Given the description of an element on the screen output the (x, y) to click on. 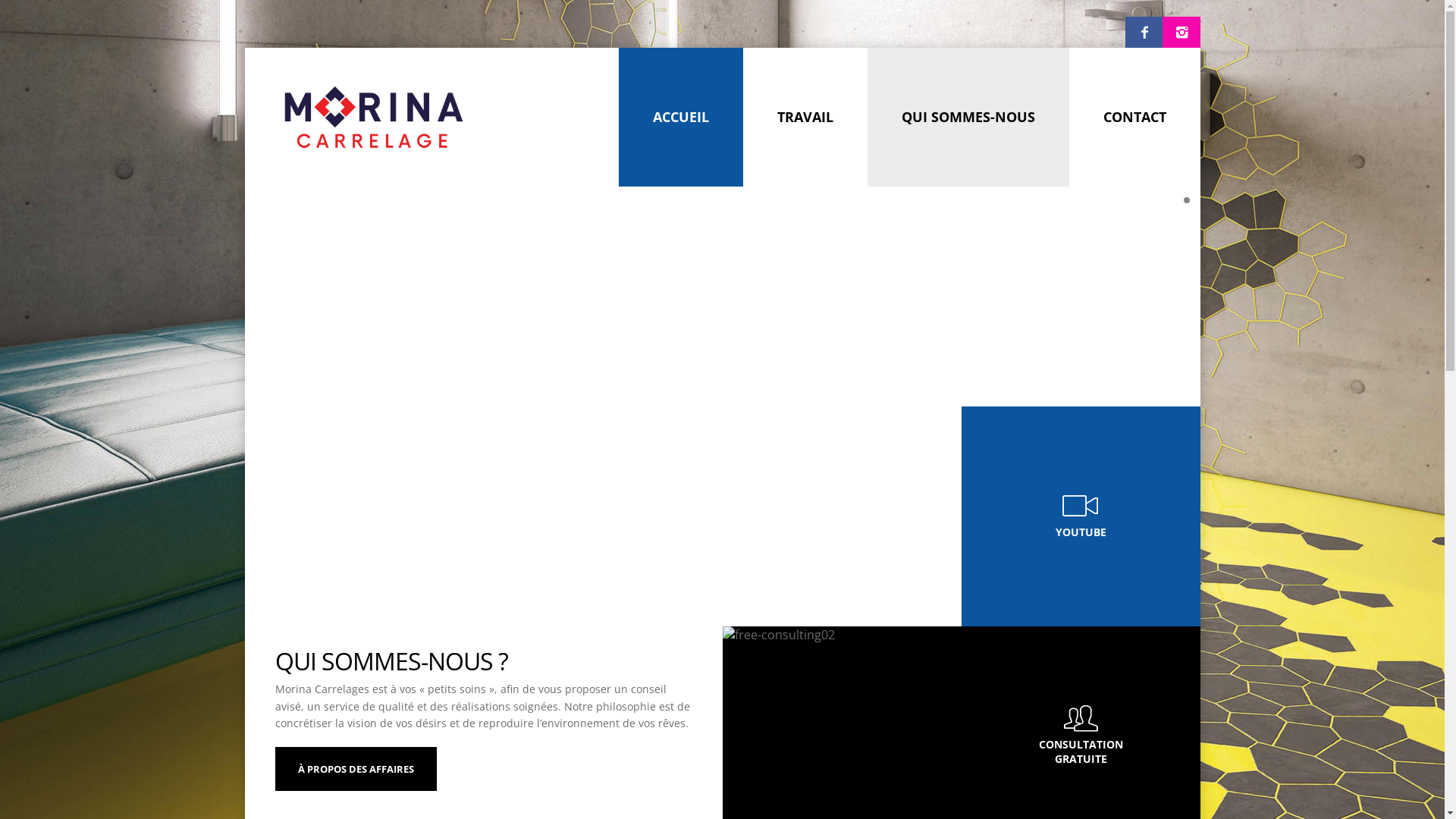
CONTACT Element type: text (1134, 116)
ACCUEIL Element type: text (680, 116)
QUI SOMMES-NOUS Element type: text (968, 116)
Facebook Element type: hover (1143, 32)
YOUTUBE Element type: text (1080, 516)
TRAVAIL Element type: text (805, 116)
Instagram Element type: hover (1180, 32)
